Given the description of an element on the screen output the (x, y) to click on. 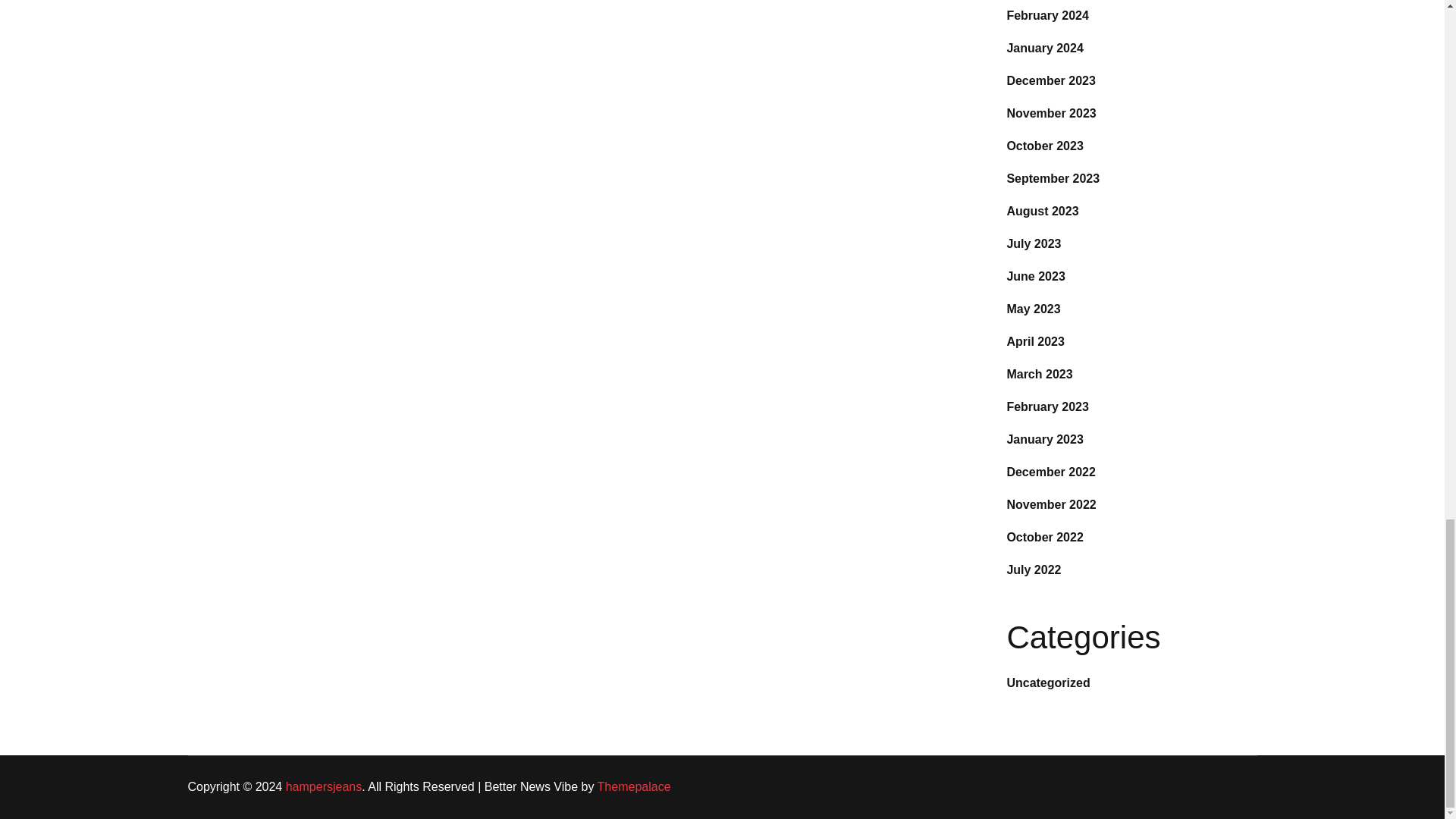
October 2023 (1044, 145)
December 2022 (1050, 472)
February 2023 (1047, 406)
November 2023 (1051, 113)
November 2022 (1051, 504)
April 2023 (1035, 341)
May 2023 (1032, 308)
August 2023 (1042, 210)
January 2024 (1044, 47)
July 2023 (1033, 243)
December 2023 (1050, 80)
June 2023 (1035, 276)
January 2023 (1044, 439)
September 2023 (1052, 178)
February 2024 (1047, 15)
